Given the description of an element on the screen output the (x, y) to click on. 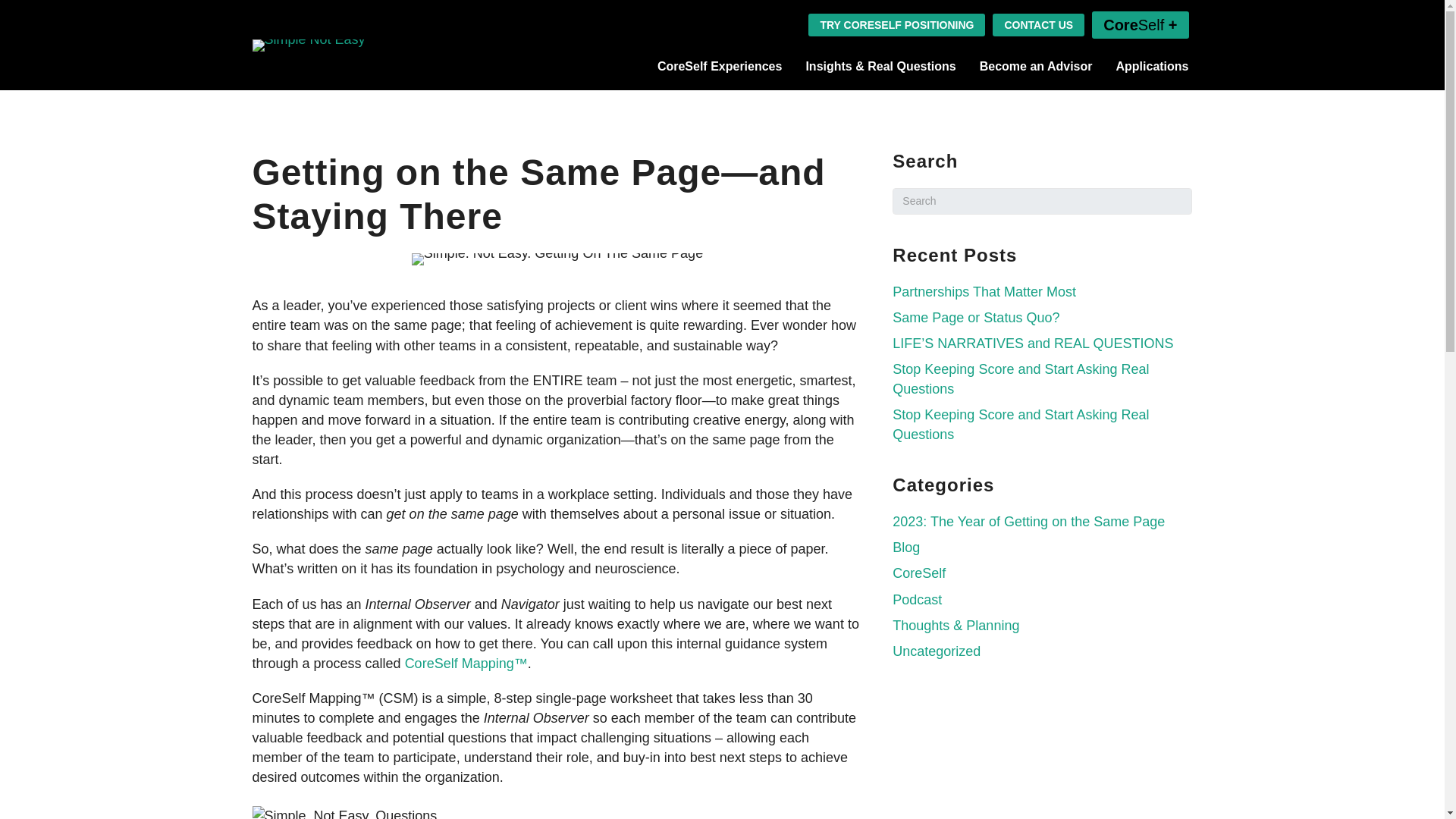
Podcast (917, 599)
Uncategorized (935, 651)
2023: The Year of Getting on the Same Page (1028, 521)
logo-white (308, 45)
Stop Keeping Score and Start Asking Real Questions (1020, 424)
CoreSelf (918, 572)
CoreSelf Experiences (719, 65)
TRY CORESELF POSITIONING (896, 24)
Applications (1151, 65)
Simple-Not-Easy-Getting-On-The-Same-Page (557, 259)
Blog (906, 547)
Same Page or Status Quo? (975, 317)
Type and press Enter to search. (1042, 201)
Partnerships That Matter Most (983, 291)
CONTACT US (1038, 24)
